Given the description of an element on the screen output the (x, y) to click on. 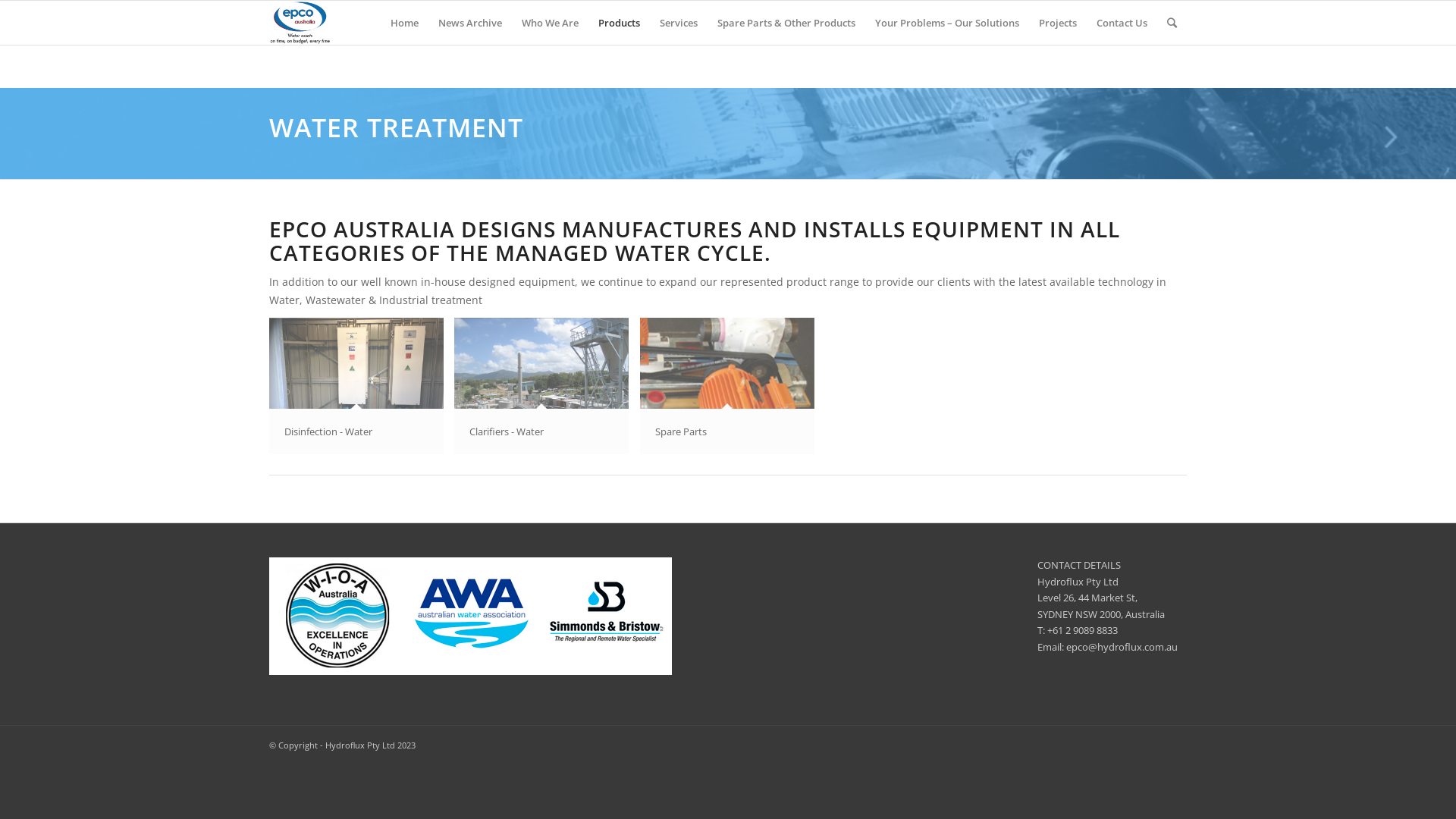
Spare Parts Element type: text (732, 391)
Services Element type: text (678, 22)
Spare Parts & Other Products Element type: text (786, 22)
Home Element type: text (404, 22)
News Archive Element type: text (469, 22)
Who We Are Element type: text (549, 22)
Projects Element type: text (1057, 22)
epco@hydroflux.com.au Element type: text (1121, 646)
Clarifiers - Water Element type: text (547, 391)
Products Element type: text (618, 22)
Contact Us Element type: text (1121, 22)
Disinfection - Water Element type: text (362, 391)
